Given the description of an element on the screen output the (x, y) to click on. 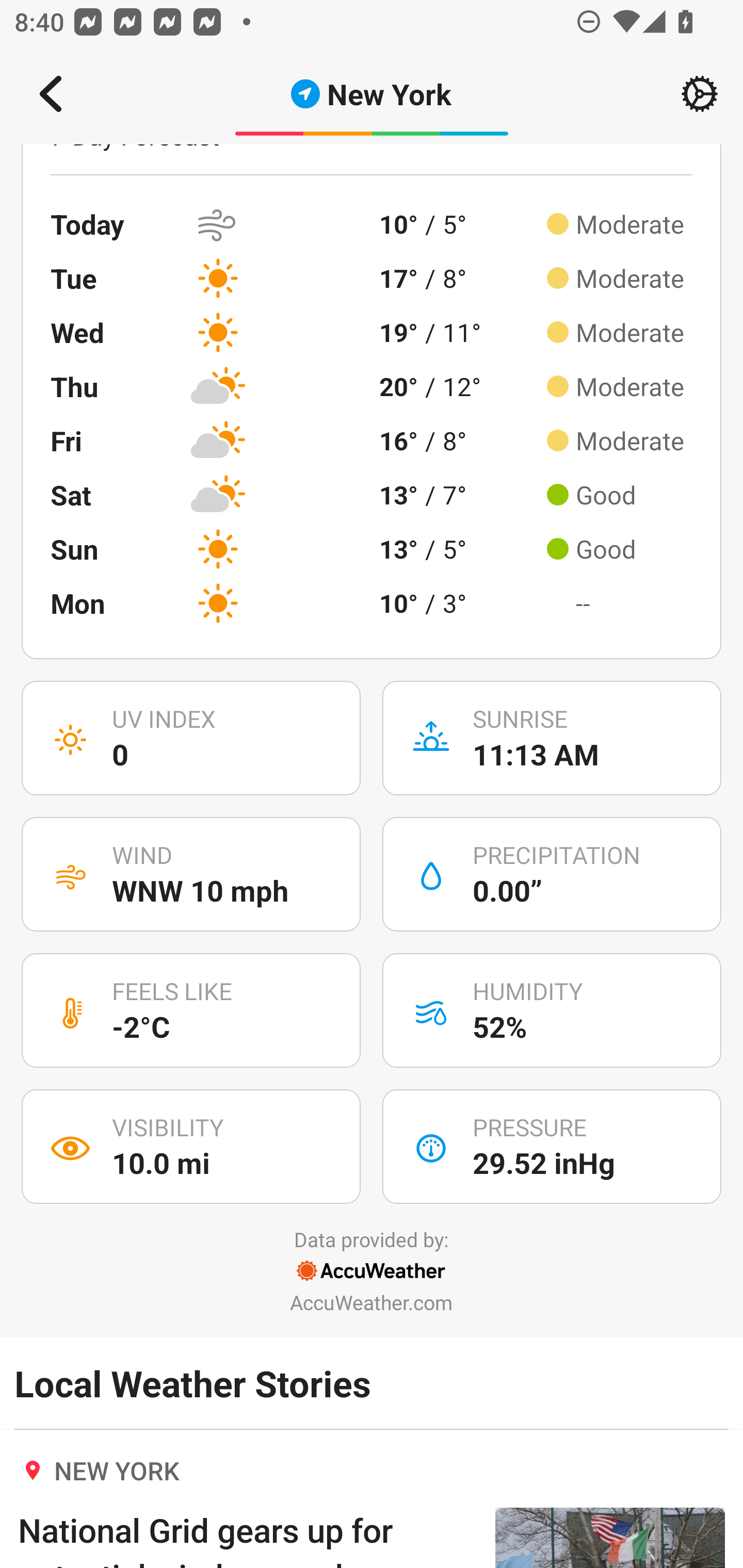
Navigate up (50, 93)
Setting (699, 93)
